Given the description of an element on the screen output the (x, y) to click on. 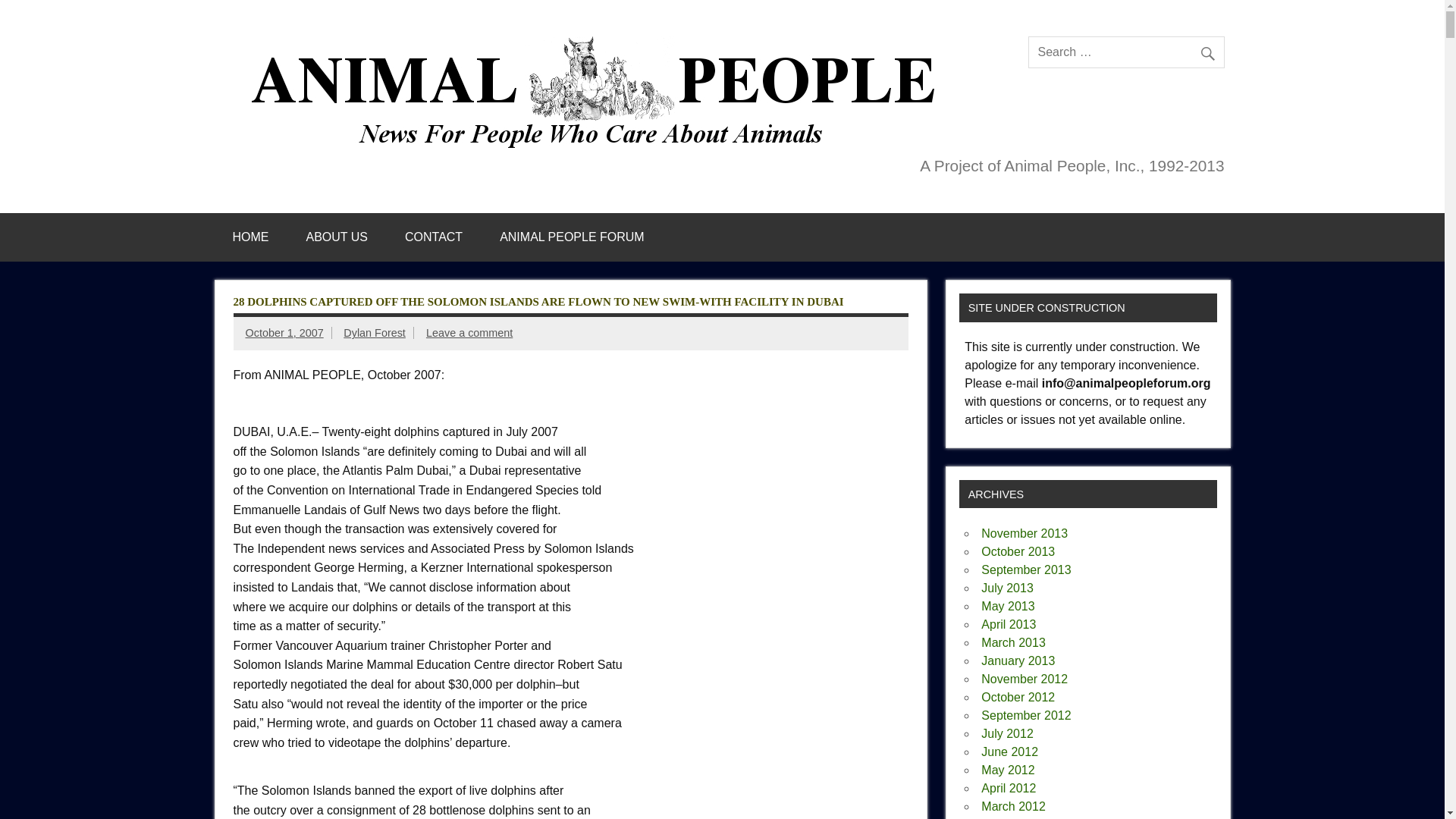
March 2013 (1013, 642)
ANIMAL PEOPLE FORUM (571, 236)
May 2013 (1007, 605)
View all posts by Dylan Forest (374, 332)
November 2013 (1024, 533)
CONTACT (433, 236)
HOME (250, 236)
November 2012 (1024, 678)
6:19 pm (284, 332)
May 2012 (1007, 769)
